Given the description of an element on the screen output the (x, y) to click on. 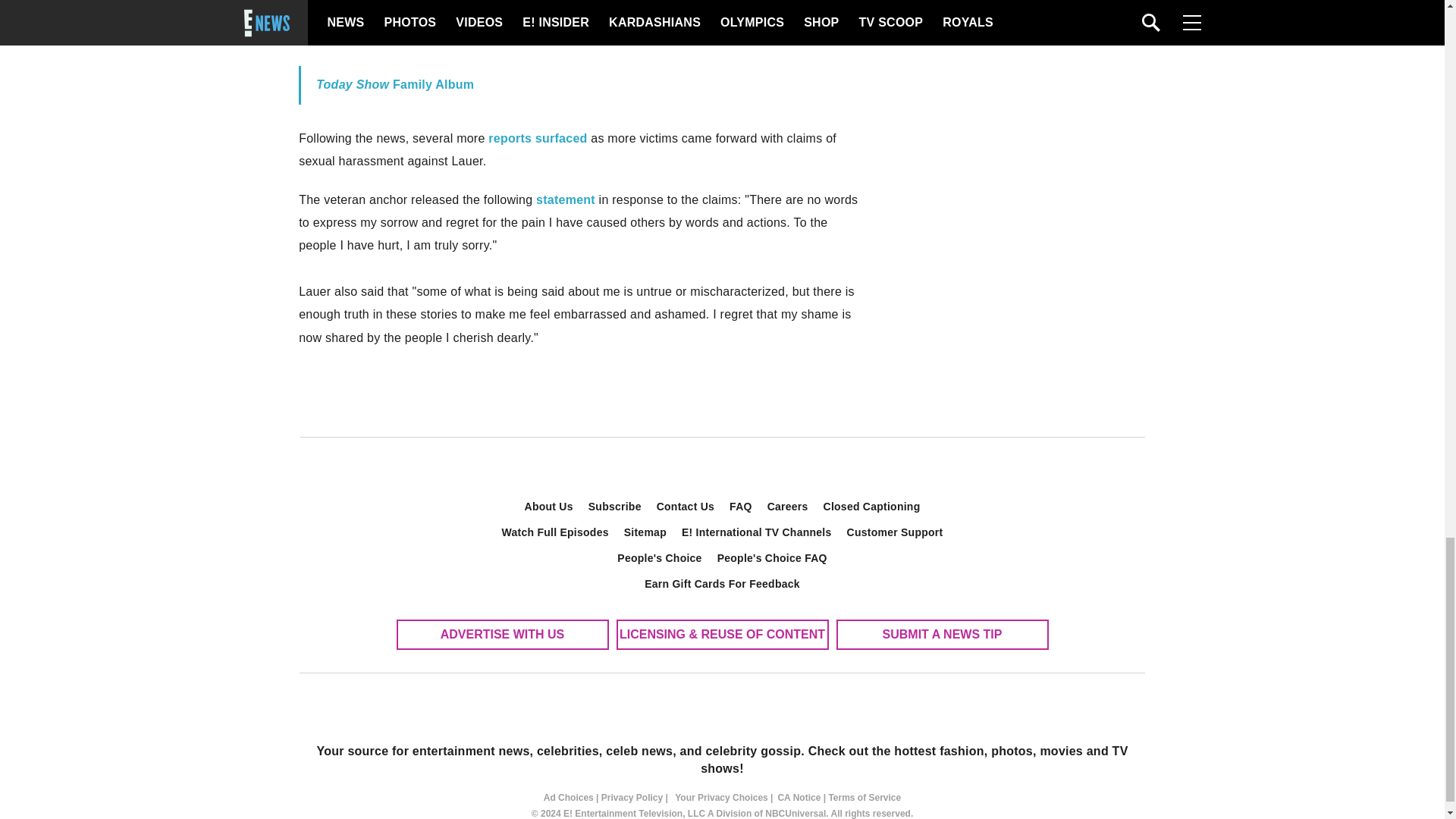
About Us (548, 506)
Today Show Family Album (394, 83)
reports surfaced (536, 137)
statement (565, 199)
